Given the description of an element on the screen output the (x, y) to click on. 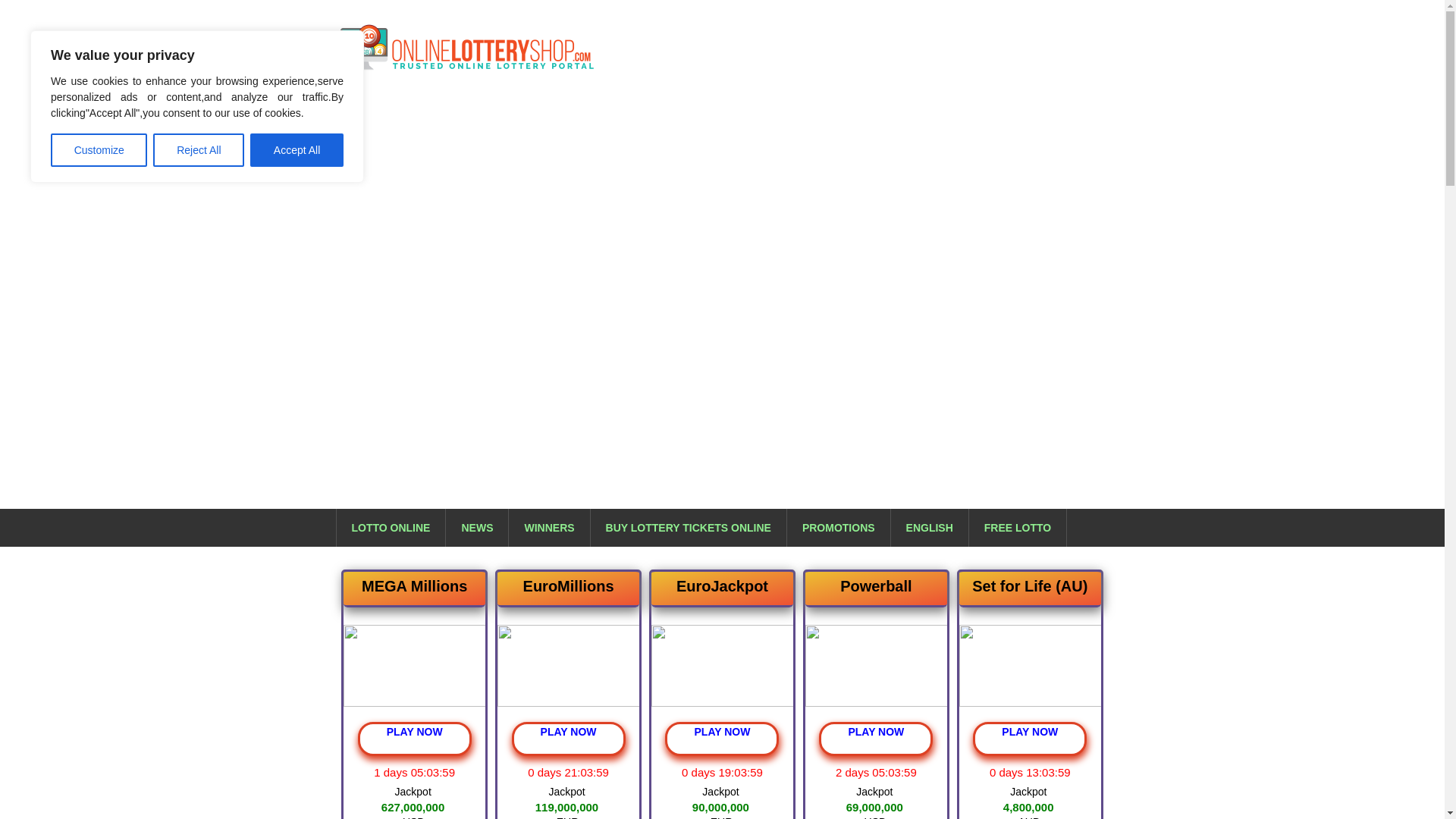
NEWS (476, 527)
FREE LOTTO (1017, 527)
PLAY NOW (721, 738)
Customize (98, 150)
WINNERS (548, 527)
LOTTO ONLINE (390, 527)
Reject All (198, 150)
ENGLISH (929, 527)
BUY LOTTERY TICKETS ONLINE (688, 527)
